Given the description of an element on the screen output the (x, y) to click on. 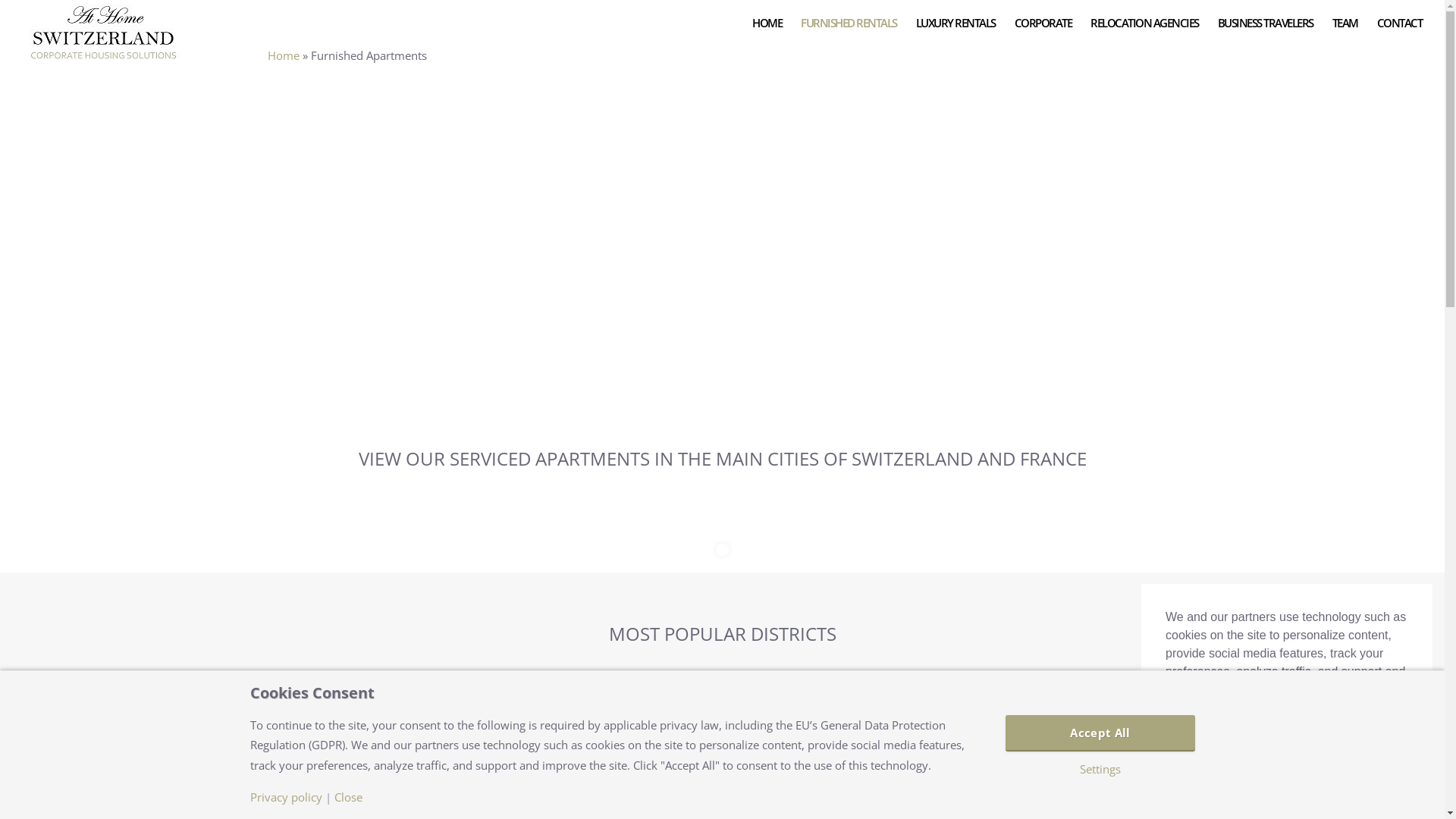
MADELEINE Element type: text (1067, 751)
Accept All Element type: text (1286, 767)
TEAM Element type: text (1344, 22)
CONTACT Element type: text (1399, 22)
Home Element type: text (282, 54)
FURNISHED RENTALS Element type: text (848, 22)
RELOCATION AGENCIES Element type: text (1144, 22)
Settings Element type: text (1099, 769)
JONCTION Element type: text (838, 751)
Accept All Element type: text (1099, 733)
EAUX-VIVES Element type: text (607, 751)
COINTRIN Element type: text (378, 751)
LUXURY RENTALS Element type: text (955, 22)
see our Privacy Policy Element type: text (1227, 728)
Privacy policy Element type: text (286, 797)
HOME Element type: text (766, 22)
Close Element type: text (347, 797)
CORPORATE Element type: text (1043, 22)
BUSINESS TRAVELERS Element type: text (1265, 22)
